Given the description of an element on the screen output the (x, y) to click on. 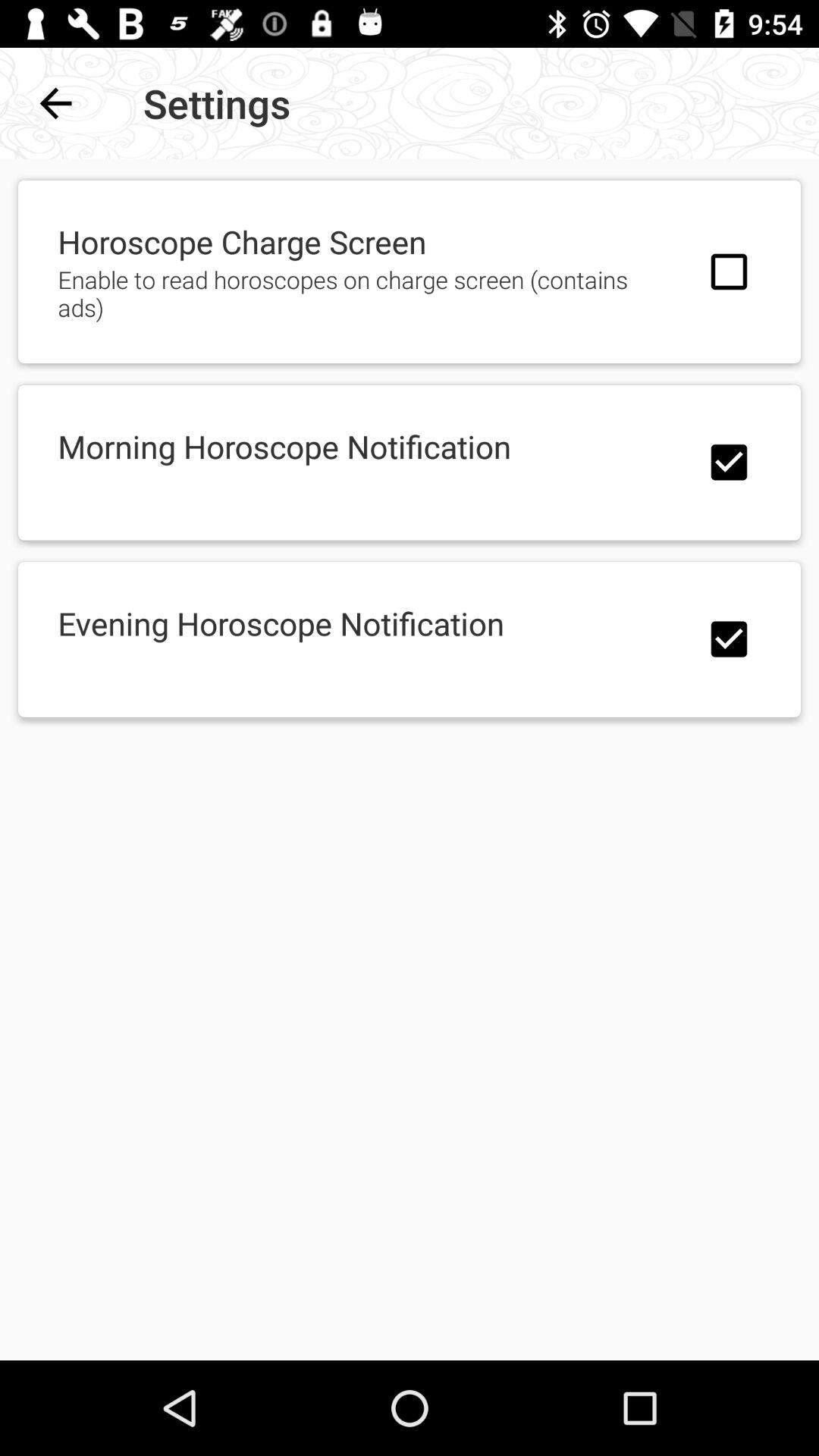
turn on the item above horoscope charge screen (55, 103)
